Given the description of an element on the screen output the (x, y) to click on. 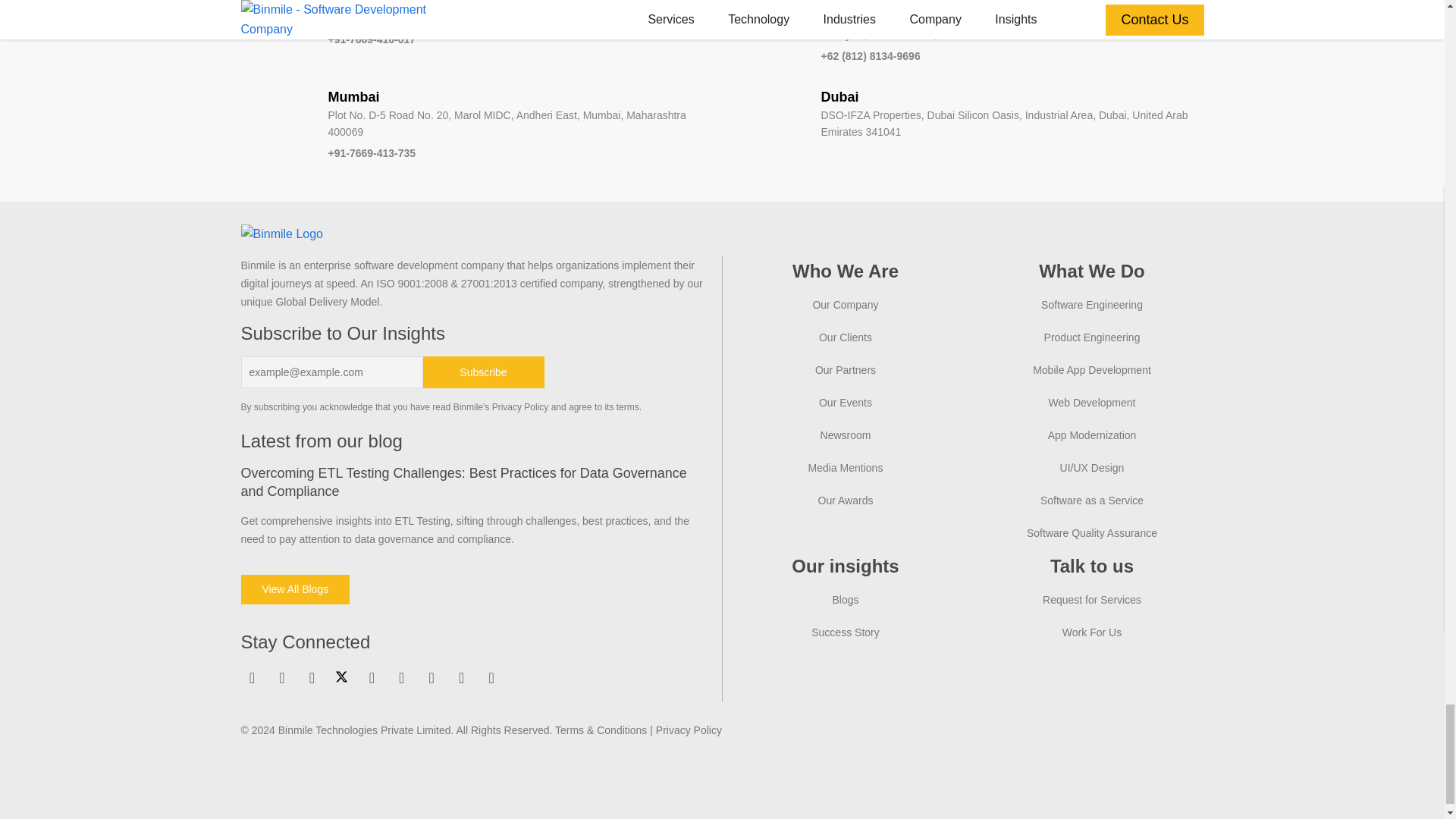
Binmile (282, 234)
Twitter (341, 676)
Subscribe (483, 372)
YouTube (370, 677)
Instagram (311, 677)
Pinterest (401, 677)
LinkedIn (252, 677)
Facebook (282, 677)
